Given the description of an element on the screen output the (x, y) to click on. 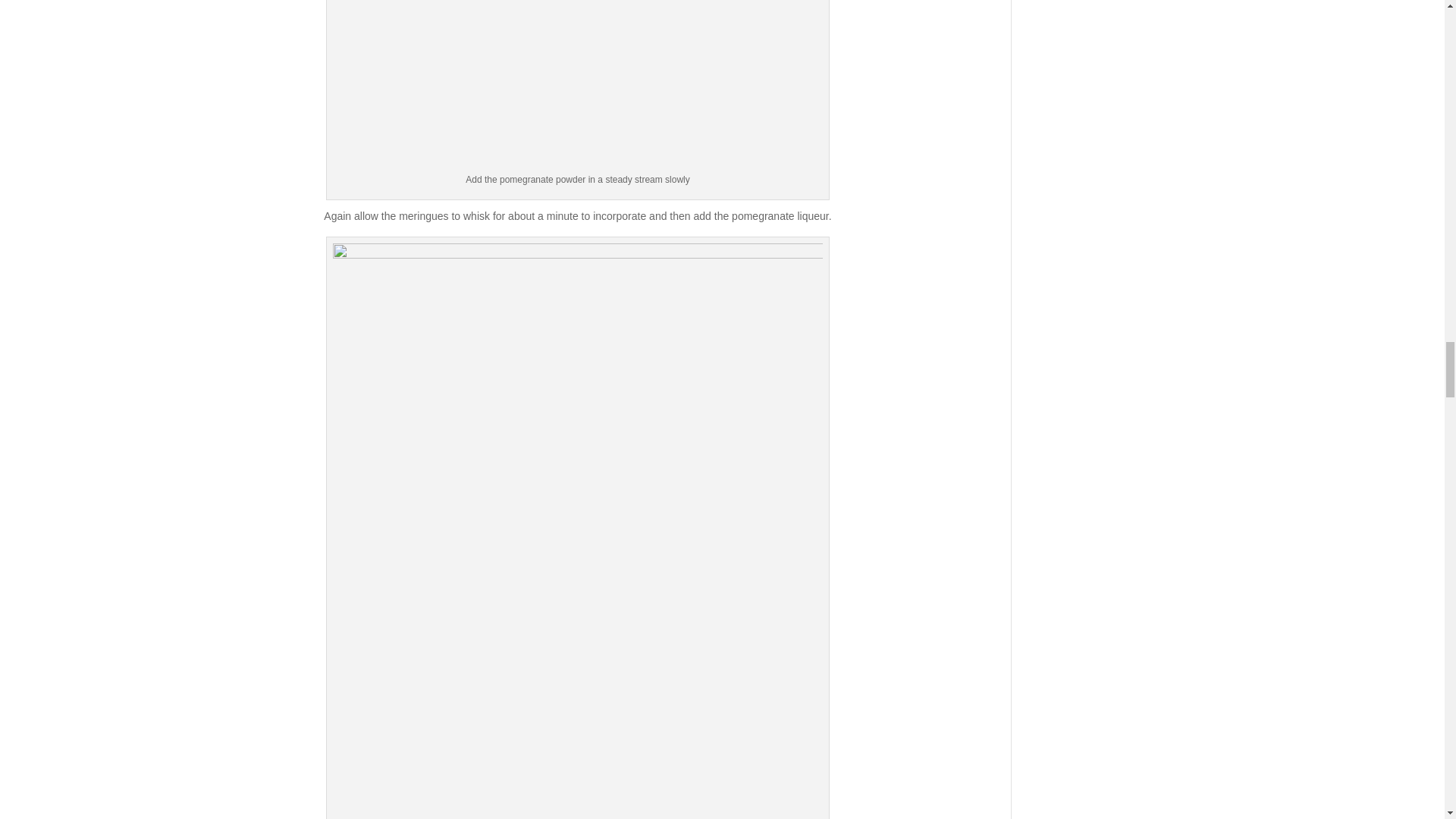
meringueaddsugar2198 (577, 85)
